Given the description of an element on the screen output the (x, y) to click on. 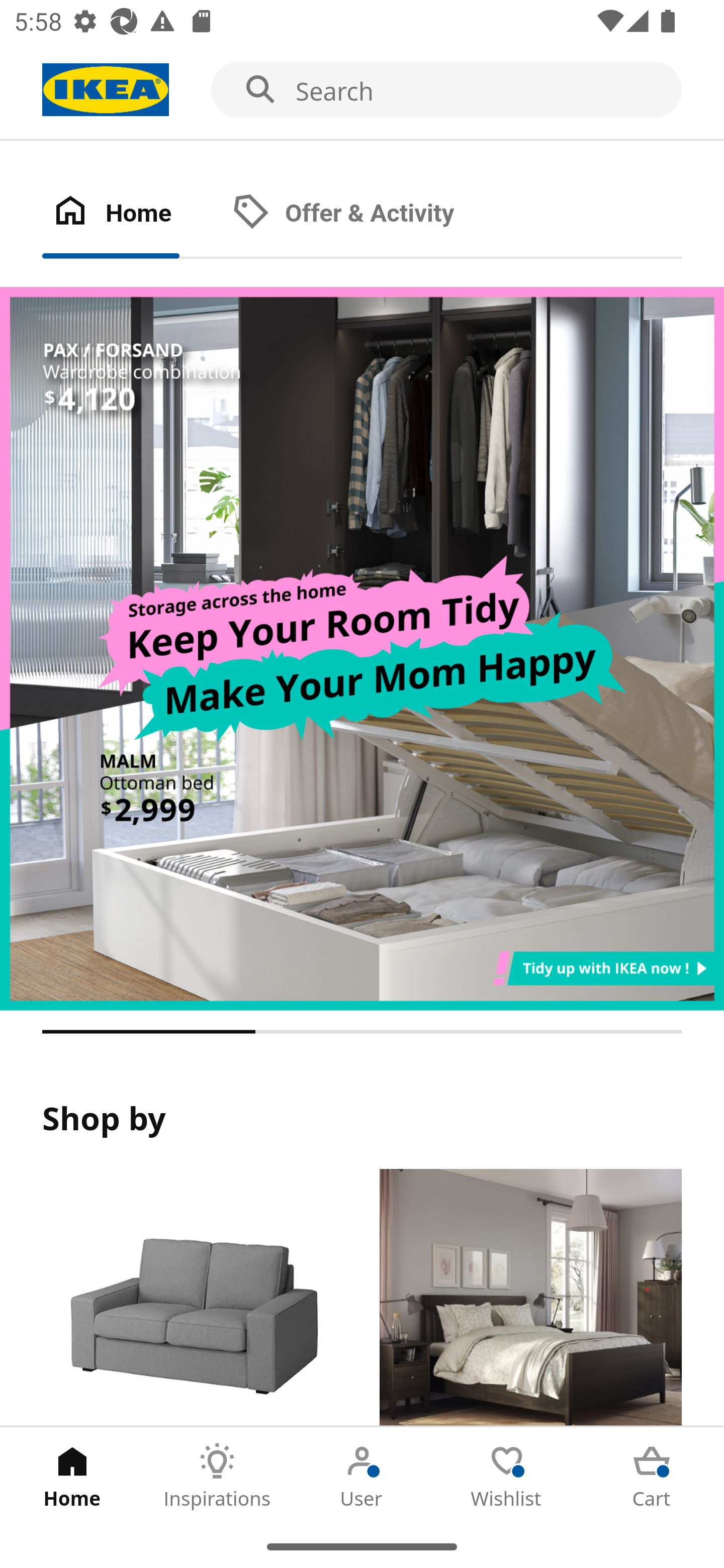
Search (361, 90)
Home
Tab 1 of 2 (131, 213)
Offer & Activity
Tab 2 of 2 (363, 213)
Products (192, 1297)
Rooms (530, 1297)
Home
Tab 1 of 5 (72, 1476)
Inspirations
Tab 2 of 5 (216, 1476)
User
Tab 3 of 5 (361, 1476)
Wishlist
Tab 4 of 5 (506, 1476)
Cart
Tab 5 of 5 (651, 1476)
